Given the description of an element on the screen output the (x, y) to click on. 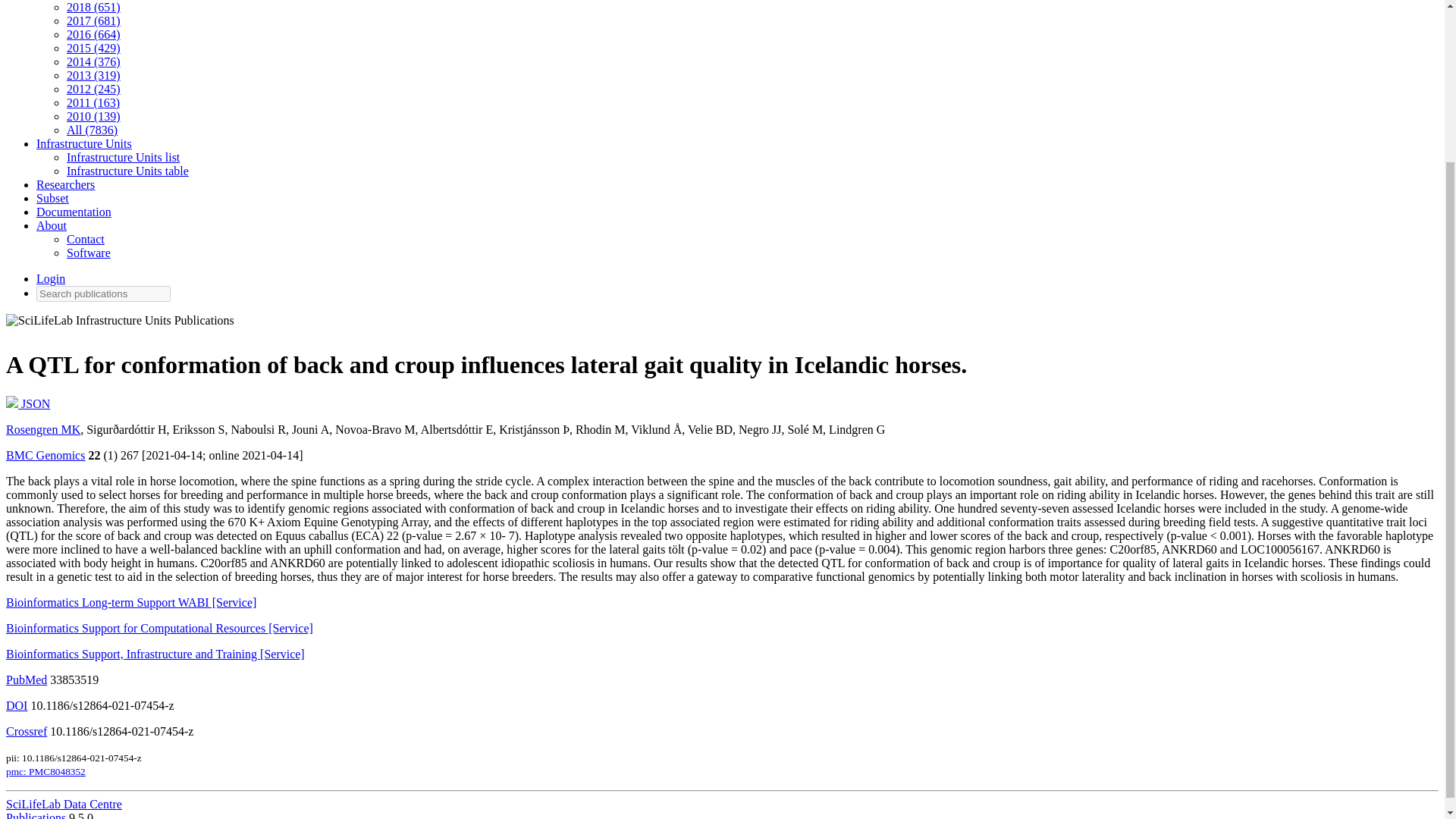
Researchers (65, 184)
Rosengren MK (42, 429)
SciLifeLab Infrastructure Units Publications (119, 323)
PubMed (25, 679)
DOI (16, 705)
Documentation (74, 211)
Software (88, 252)
Contact (85, 238)
About (51, 225)
BMC Genomics (44, 454)
